Given the description of an element on the screen output the (x, y) to click on. 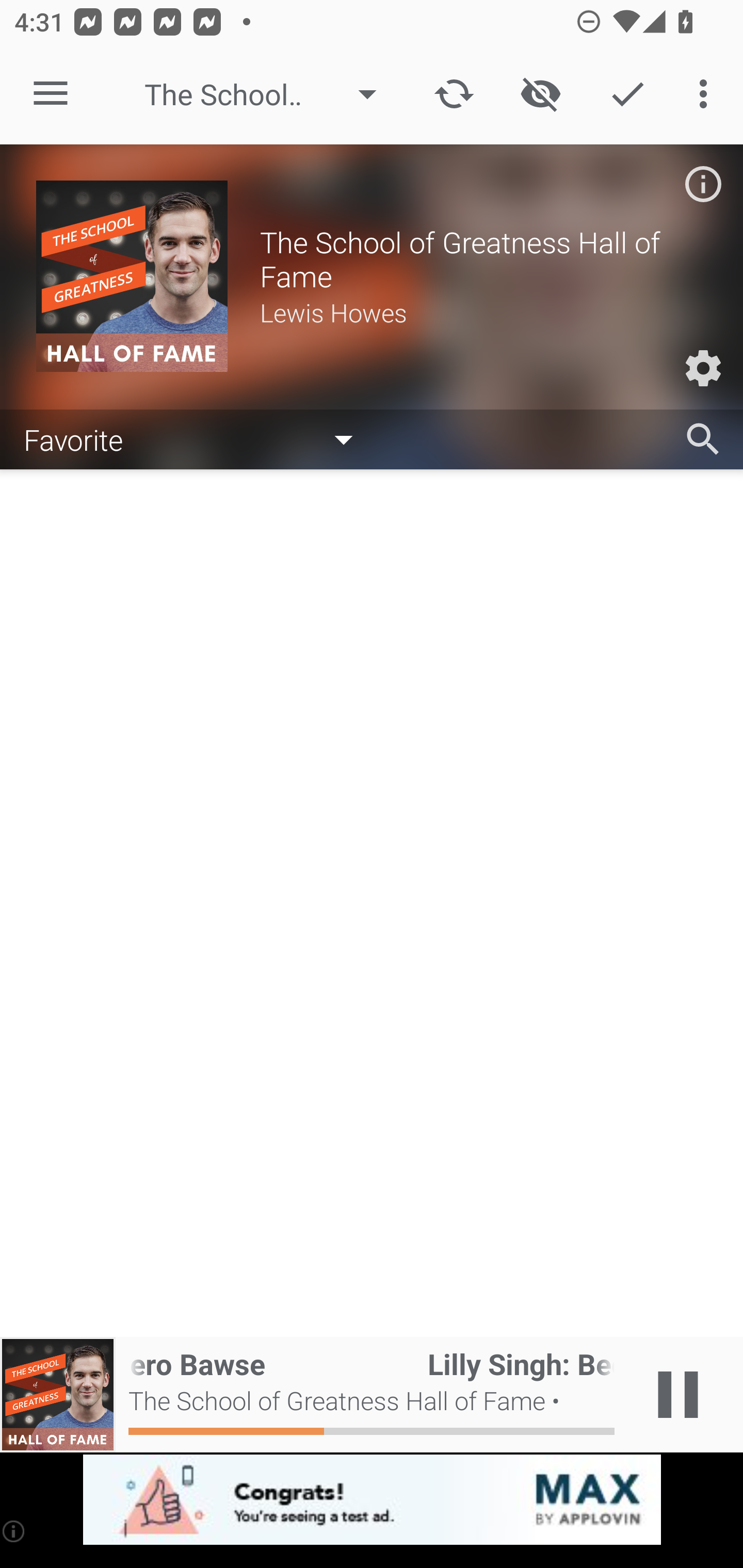
Open navigation sidebar (50, 93)
Update (453, 93)
Show / Hide played content (540, 93)
Action Mode (626, 93)
More options (706, 93)
The School of Greatness Hall of Fame (270, 94)
Podcast description (703, 184)
Lewis Howes (483, 311)
Custom Settings (703, 368)
Search (703, 439)
Favorite (197, 438)
Play / Pause (677, 1394)
app-monetization (371, 1500)
(i) (14, 1531)
